Given the description of an element on the screen output the (x, y) to click on. 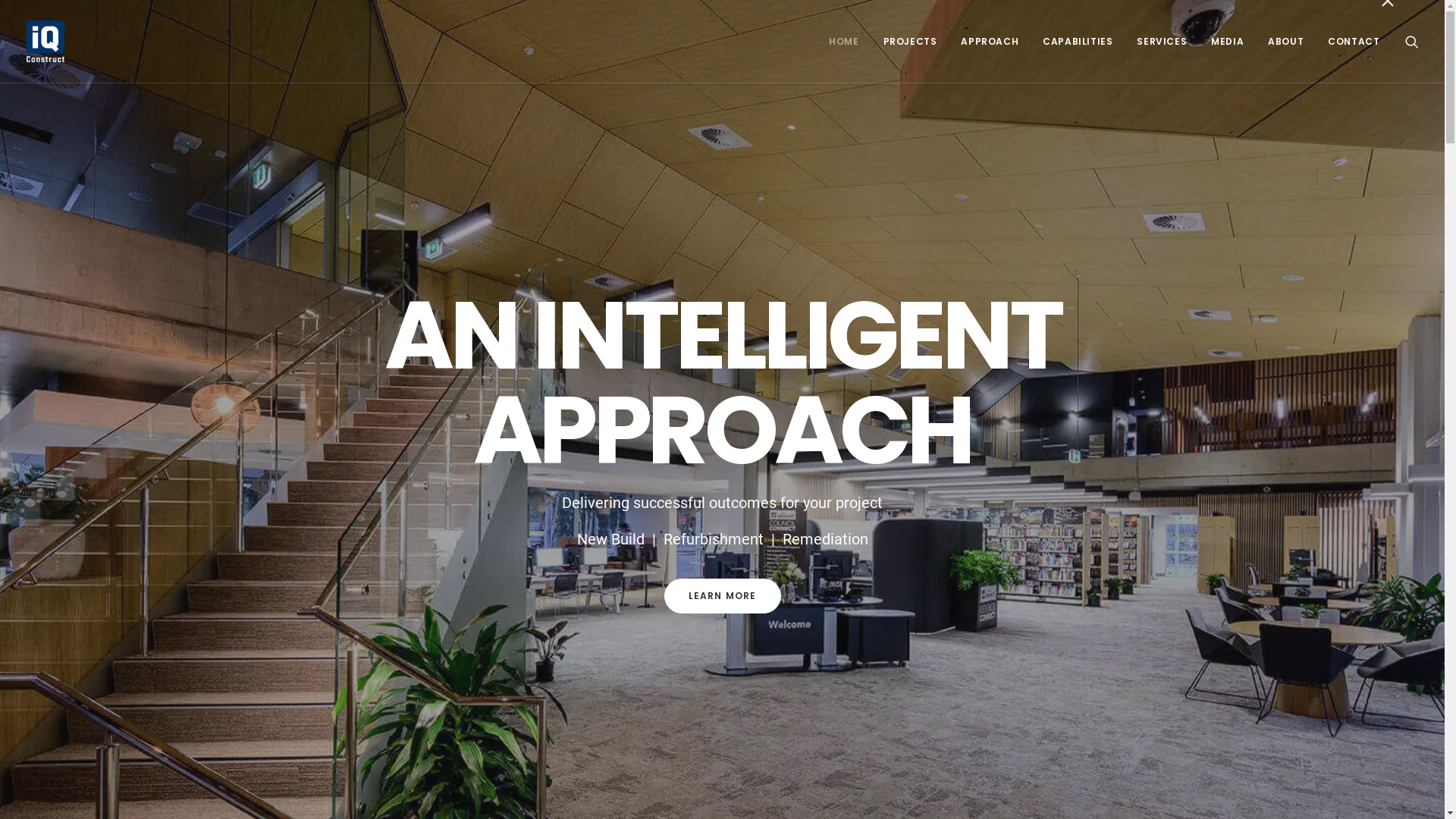
SERVICES Element type: text (1161, 41)
PROJECTS Element type: text (909, 41)
APPROACH Element type: text (989, 41)
LEARN MORE Element type: text (722, 595)
CAPABILITIES Element type: text (1077, 41)
ABOUT Element type: text (1285, 41)
CONTACT Element type: text (1348, 41)
MEDIA Element type: text (1227, 41)
HOME Element type: text (843, 41)
